Given the description of an element on the screen output the (x, y) to click on. 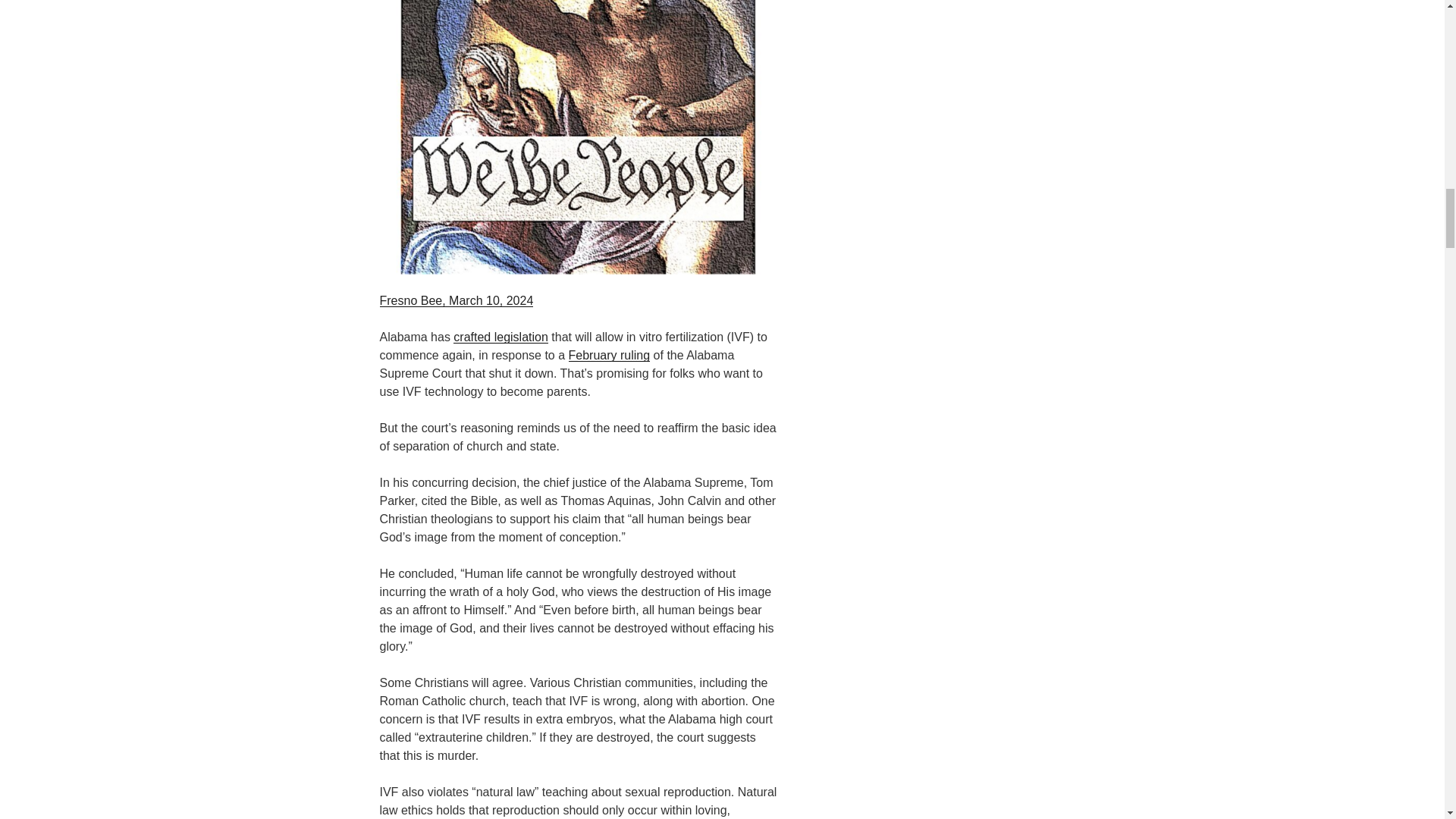
Fresno Bee, March 10, 2024 (455, 300)
crafted legislation (500, 336)
February ruling (609, 354)
